Given the description of an element on the screen output the (x, y) to click on. 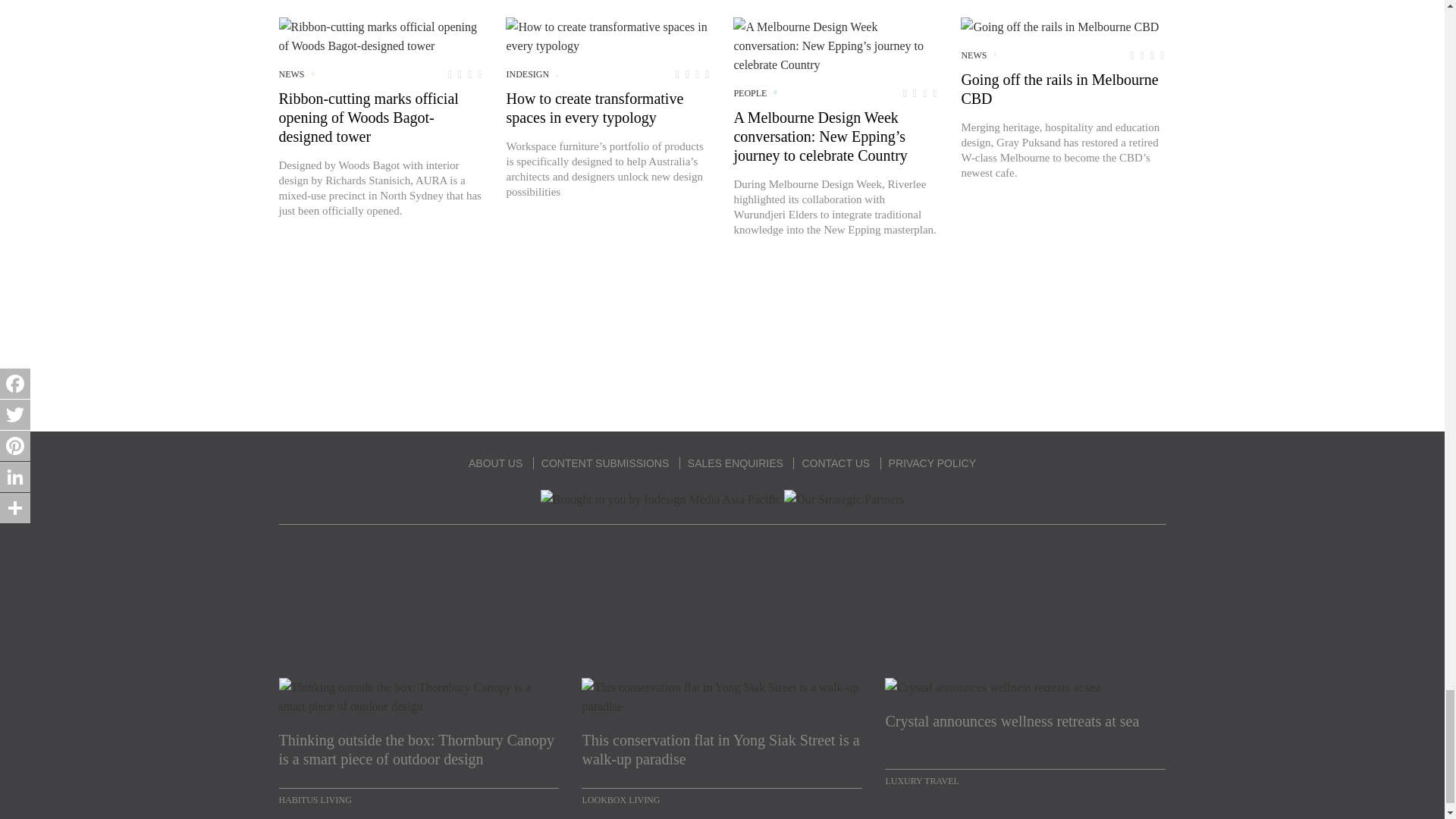
How to create transformative spaces in every typology (607, 36)
